Given the description of an element on the screen output the (x, y) to click on. 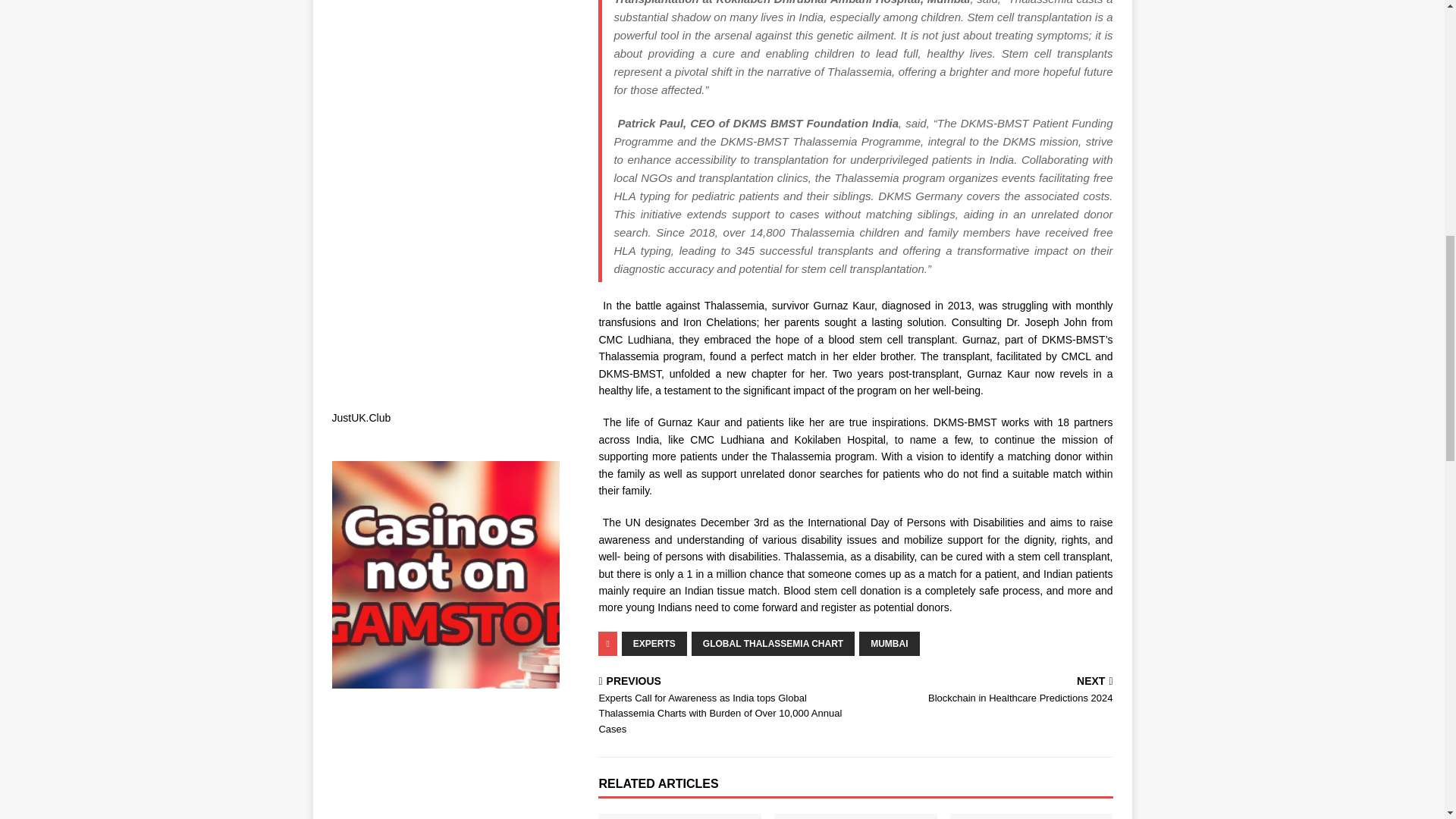
GLOBAL THALASSEMIA CHART (772, 643)
MUMBAI (888, 643)
EXPERTS (654, 643)
